Given the description of an element on the screen output the (x, y) to click on. 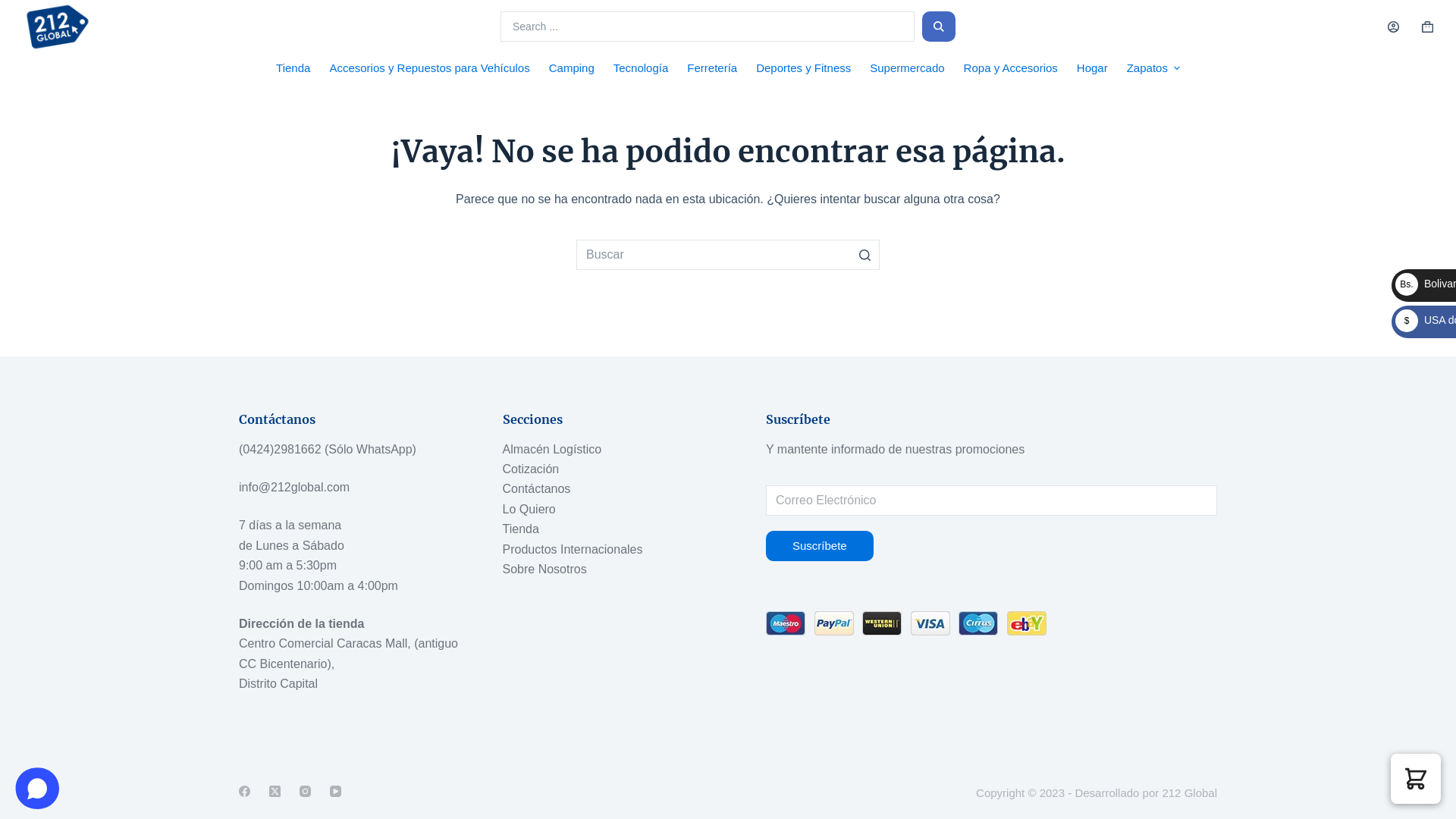
Sobre Nosotros Element type: text (544, 568)
Buscar... Element type: hover (727, 254)
Tienda Element type: text (293, 68)
Productos Internacionales Element type: text (572, 548)
Tienda Element type: text (520, 528)
Hogar Element type: text (1091, 68)
Ropa y Accesorios Element type: text (1009, 68)
Deportes y Fitness Element type: text (803, 68)
Supermercado Element type: text (906, 68)
Camping Element type: text (571, 68)
Zapatos Element type: text (1153, 68)
Saltar al contenido Element type: text (15, 7)
Lo Quiero Element type: text (528, 508)
